Given the description of an element on the screen output the (x, y) to click on. 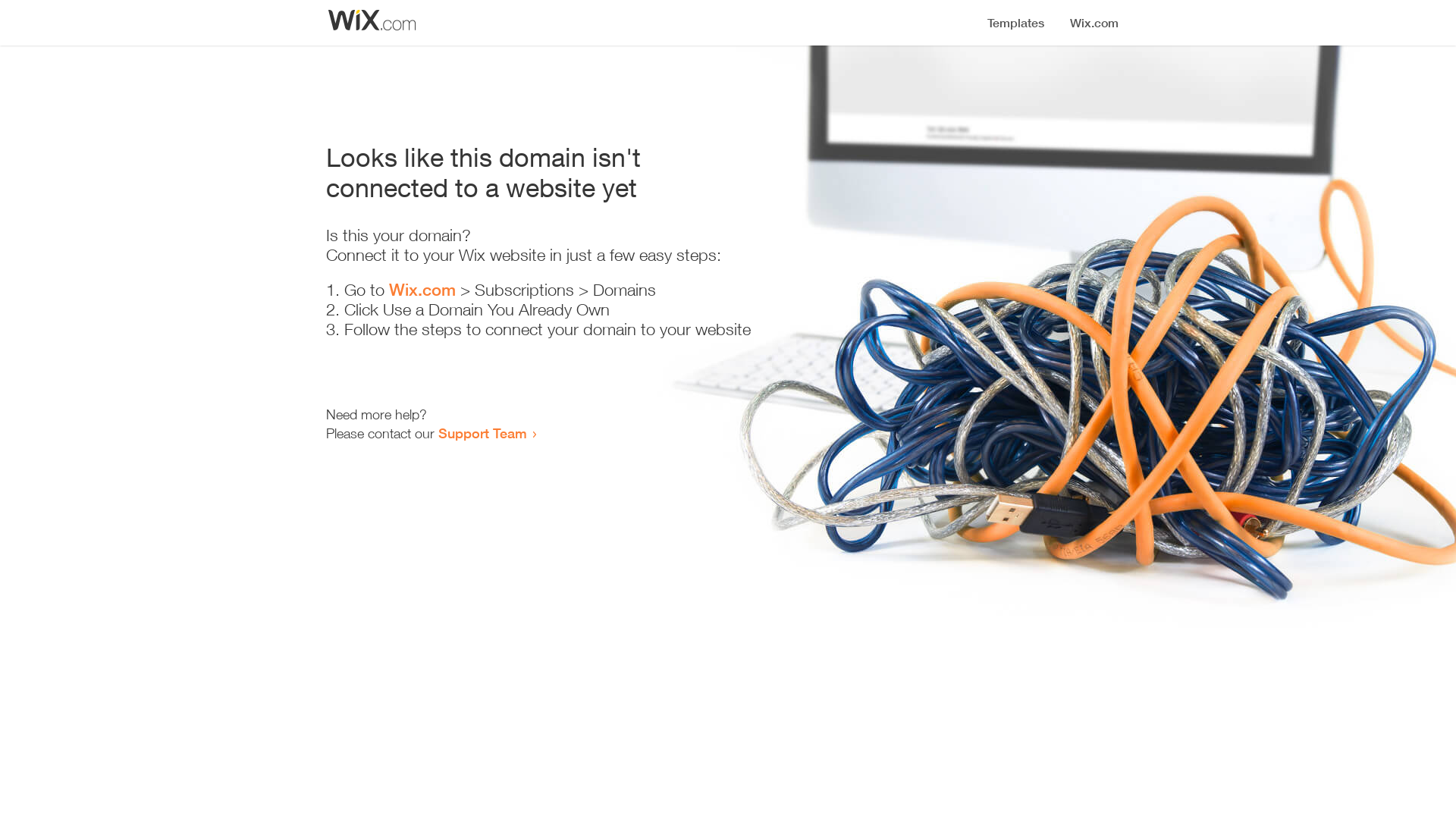
Wix.com Element type: text (422, 289)
Support Team Element type: text (482, 432)
